Given the description of an element on the screen output the (x, y) to click on. 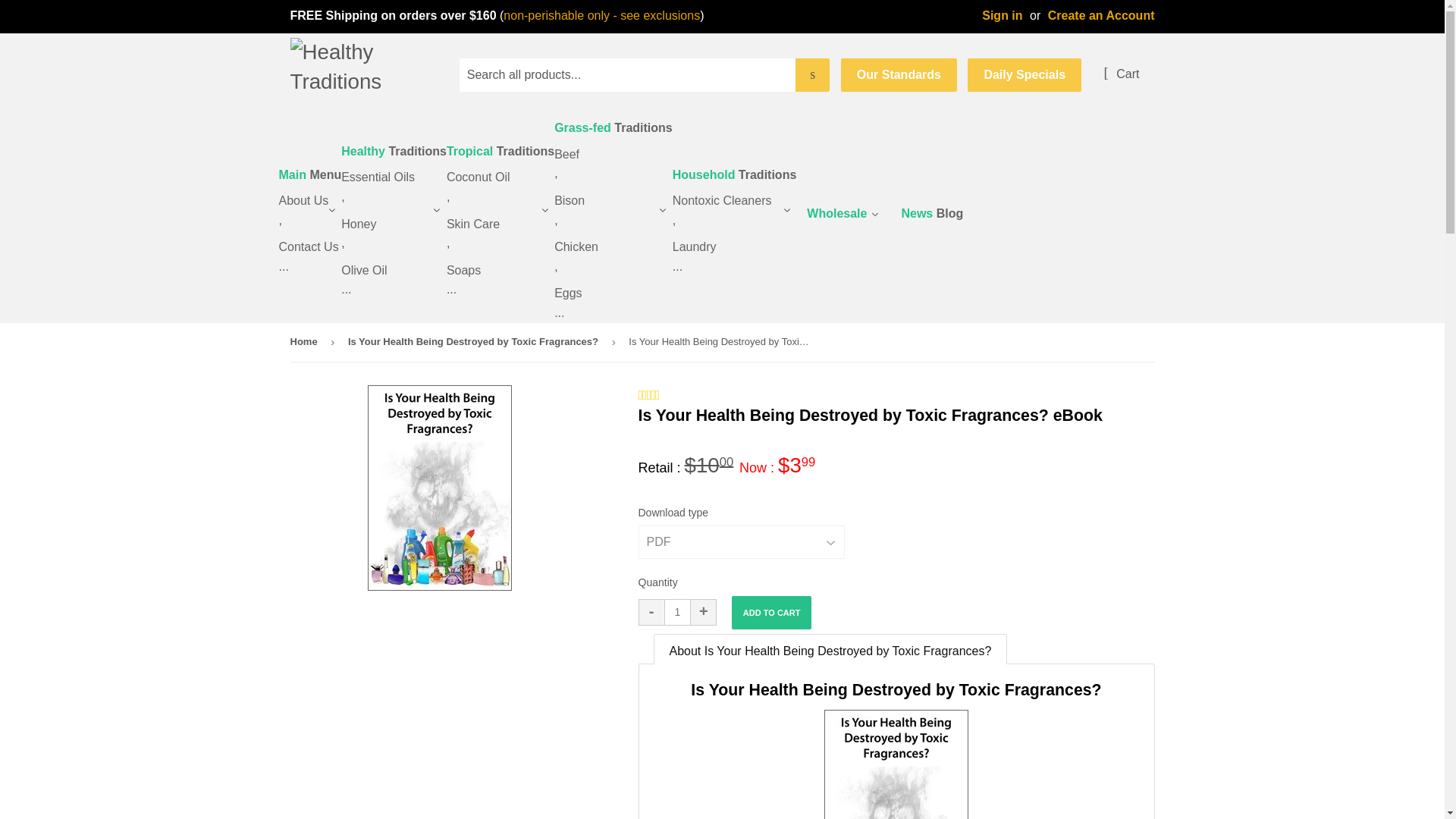
Create an Account (1101, 15)
Subscribe for Special Deals (1024, 74)
Search (811, 74)
1 (676, 611)
Sign in (1001, 15)
Daily Specials (1024, 74)
Subscribe for Special Deals (898, 74)
Our Standards (898, 74)
non-perishable only - see exclusions (601, 15)
Cart (1120, 74)
